Given the description of an element on the screen output the (x, y) to click on. 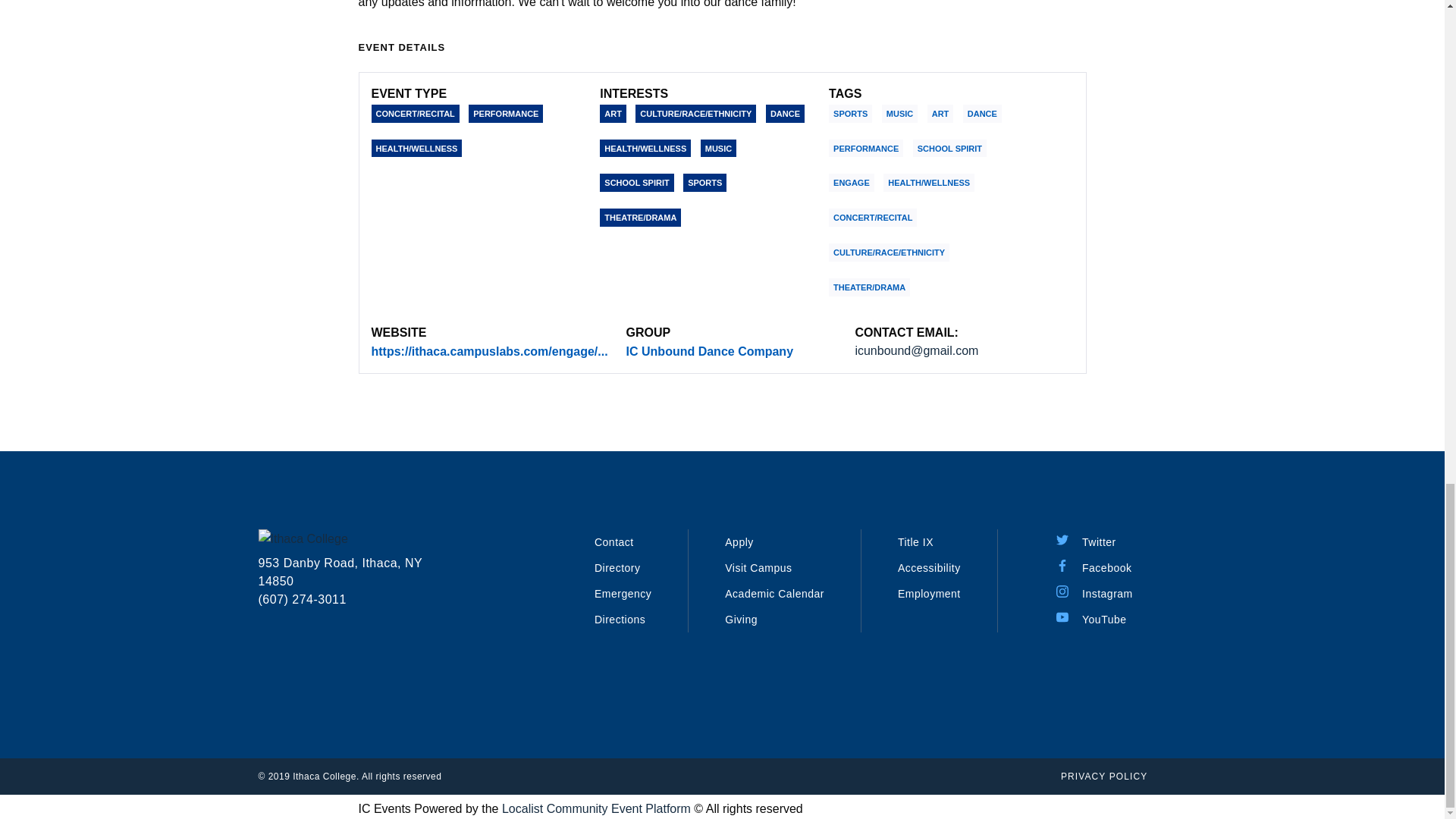
Emergency information (622, 593)
Academic Calendar (774, 593)
Apply to Ithaca College (739, 541)
Driving directions to Ithaca College (619, 619)
Accessibility at Ithaca College (929, 567)
Search current faculty, staff, and students (617, 567)
istagram icon Created with Sketch. (1062, 591)
Visit Ithaca College (758, 567)
Contact Ithaca College (613, 541)
Jobs at Ithaca College (929, 593)
facebook icon Created with Sketch. (1062, 565)
youtube icon Created with Sketch. (1062, 616)
twitter icon Created with Sketch. (1062, 539)
Title IX information (915, 541)
Giving to Ithaca College (741, 619)
